Given the description of an element on the screen output the (x, y) to click on. 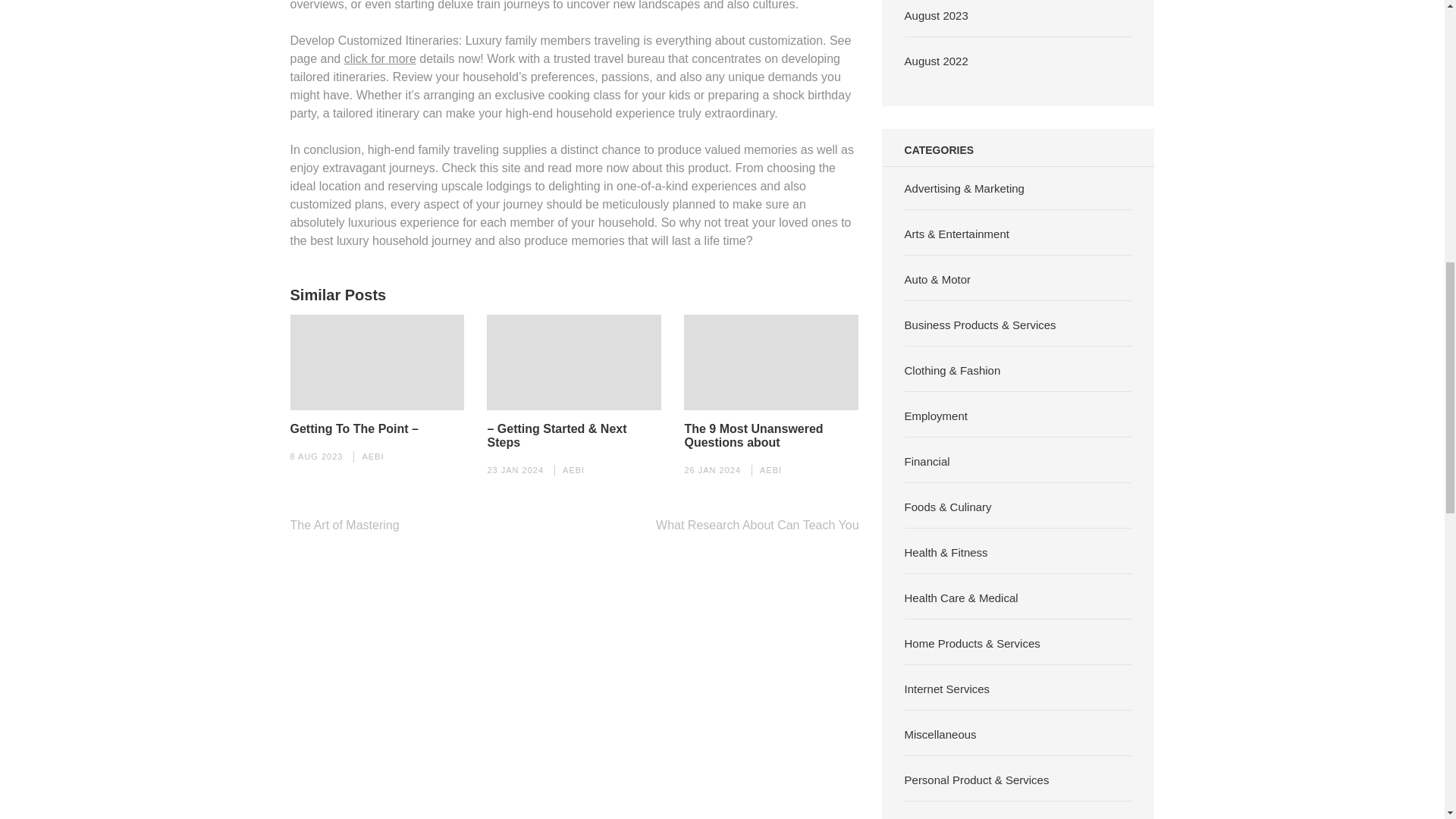
AEBI (770, 470)
The 9 Most Unanswered Questions about (771, 435)
AEBI (573, 470)
23 JAN 2024 (514, 470)
26 JAN 2024 (712, 470)
8 AUG 2023 (315, 456)
The Art of Mastering (343, 524)
What Research About Can Teach You (757, 524)
AEBI (372, 456)
click for more (379, 57)
